Given the description of an element on the screen output the (x, y) to click on. 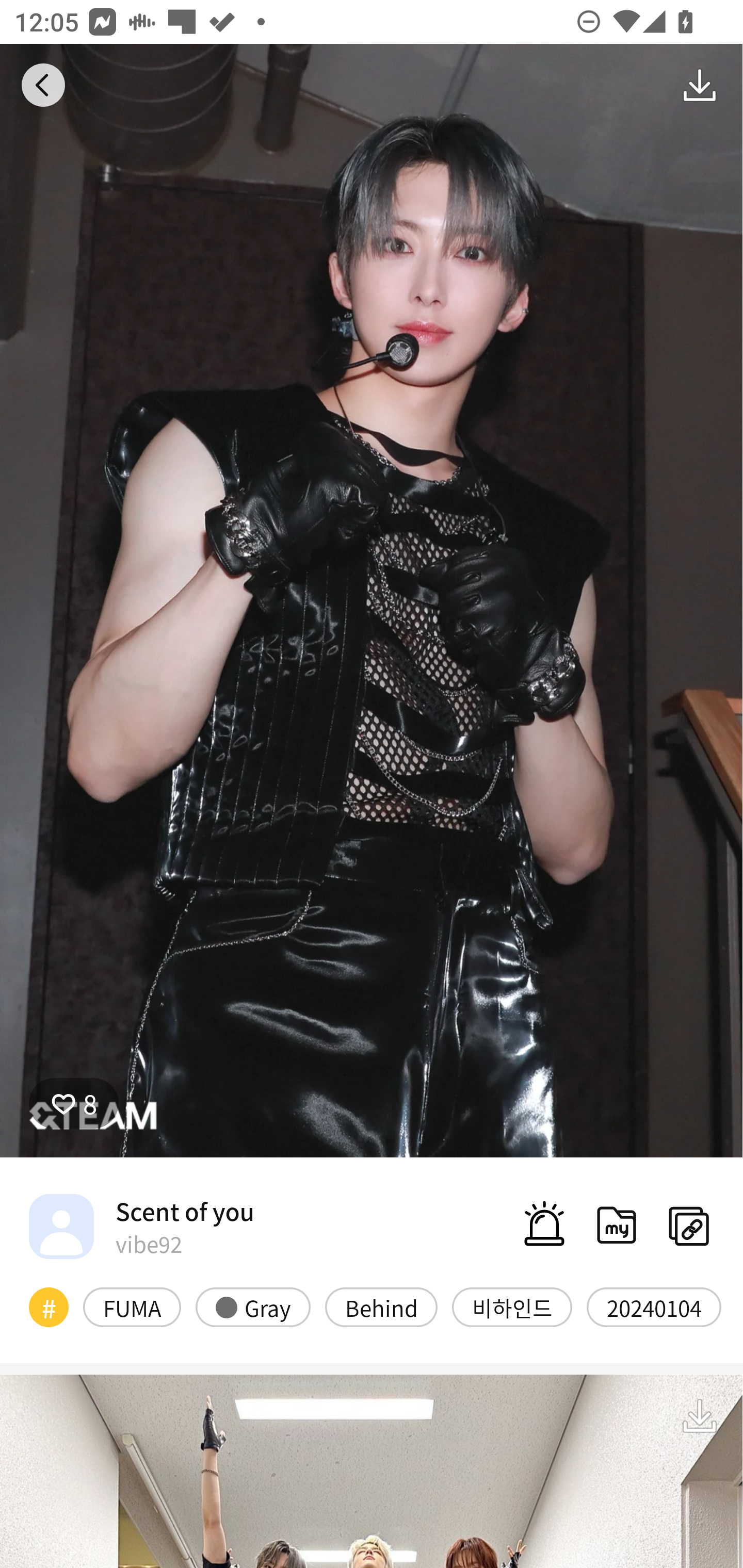
8 (73, 1102)
Scent of you vibe92 (141, 1226)
FUMA (132, 1306)
Gray (252, 1306)
Behind (381, 1306)
비하인드 (511, 1306)
20240104 (653, 1306)
